Given the description of an element on the screen output the (x, y) to click on. 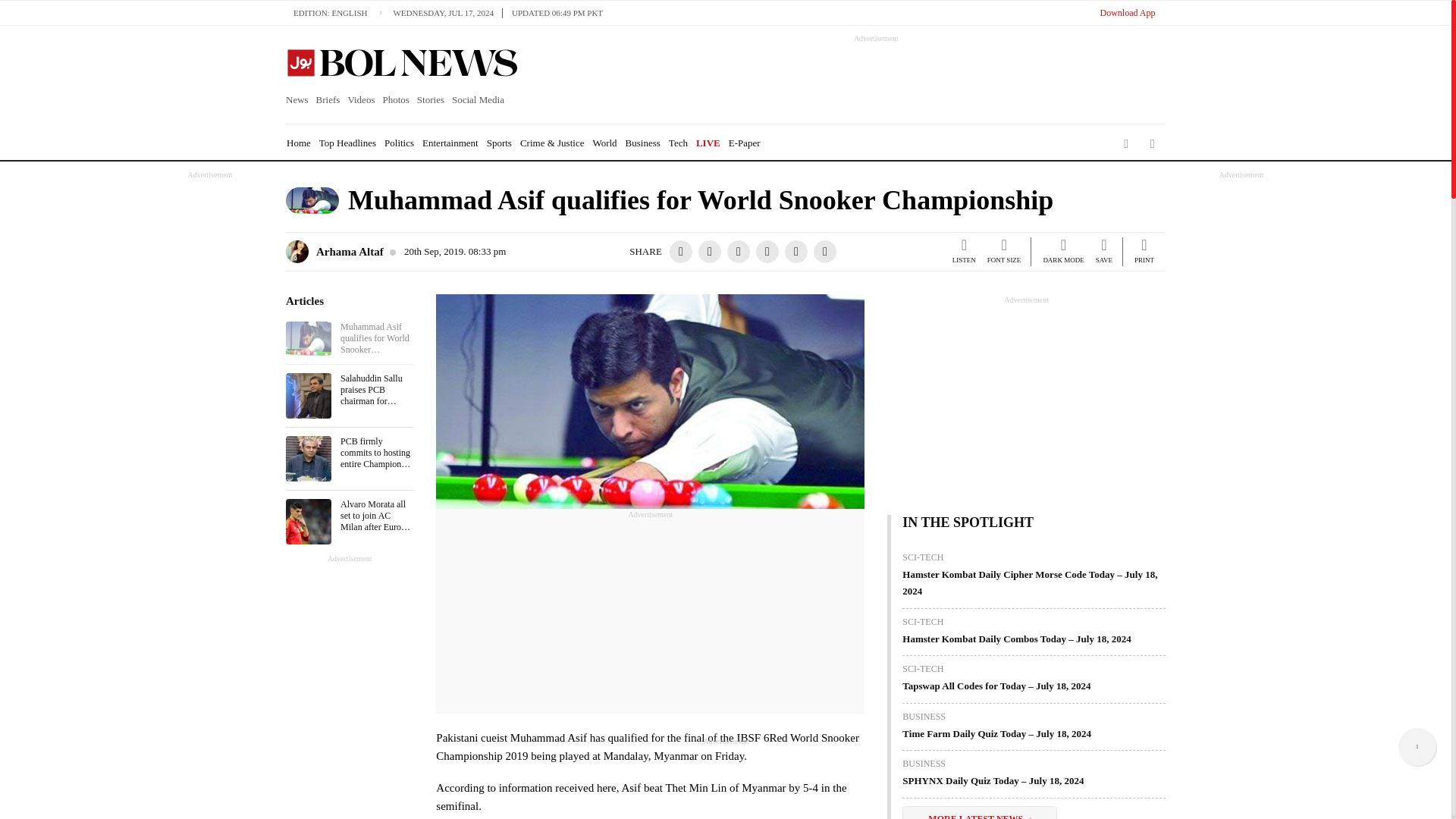
Sports (499, 143)
World (603, 143)
bookmark article (1104, 253)
Download App (1127, 12)
Briefs (328, 99)
Top Headlines (346, 143)
E-Paper (744, 143)
Tech (677, 143)
Politics (398, 143)
Entertainment (450, 143)
LIVE (707, 143)
Social Media (478, 99)
Videos (360, 99)
Photos (395, 99)
Stories (430, 99)
